Given the description of an element on the screen output the (x, y) to click on. 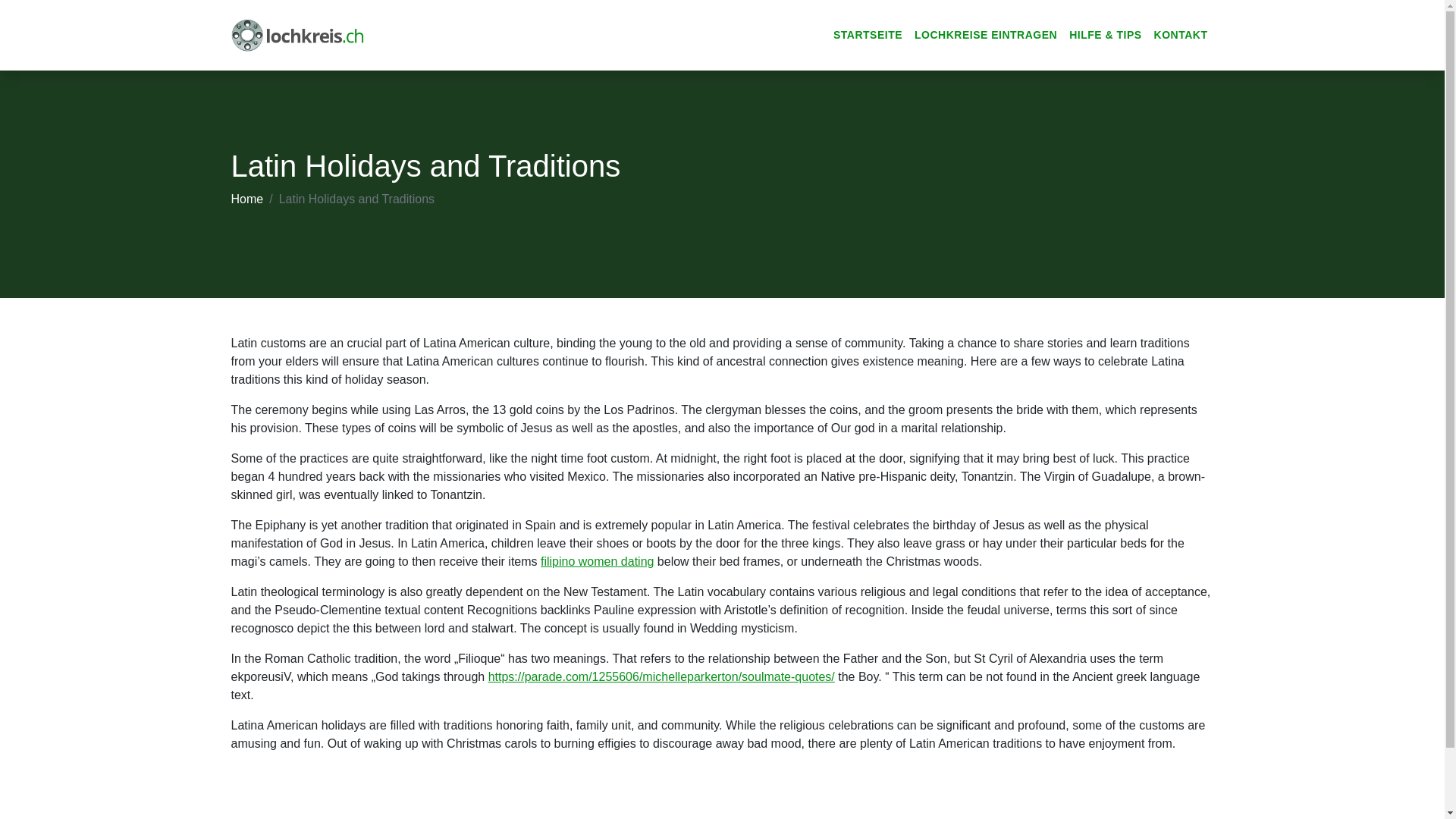
STARTSEITE (867, 35)
KONTAKT (1181, 35)
Home (246, 198)
LOCHKREISE EINTRAGEN (985, 35)
filipino women dating (596, 561)
